Given the description of an element on the screen output the (x, y) to click on. 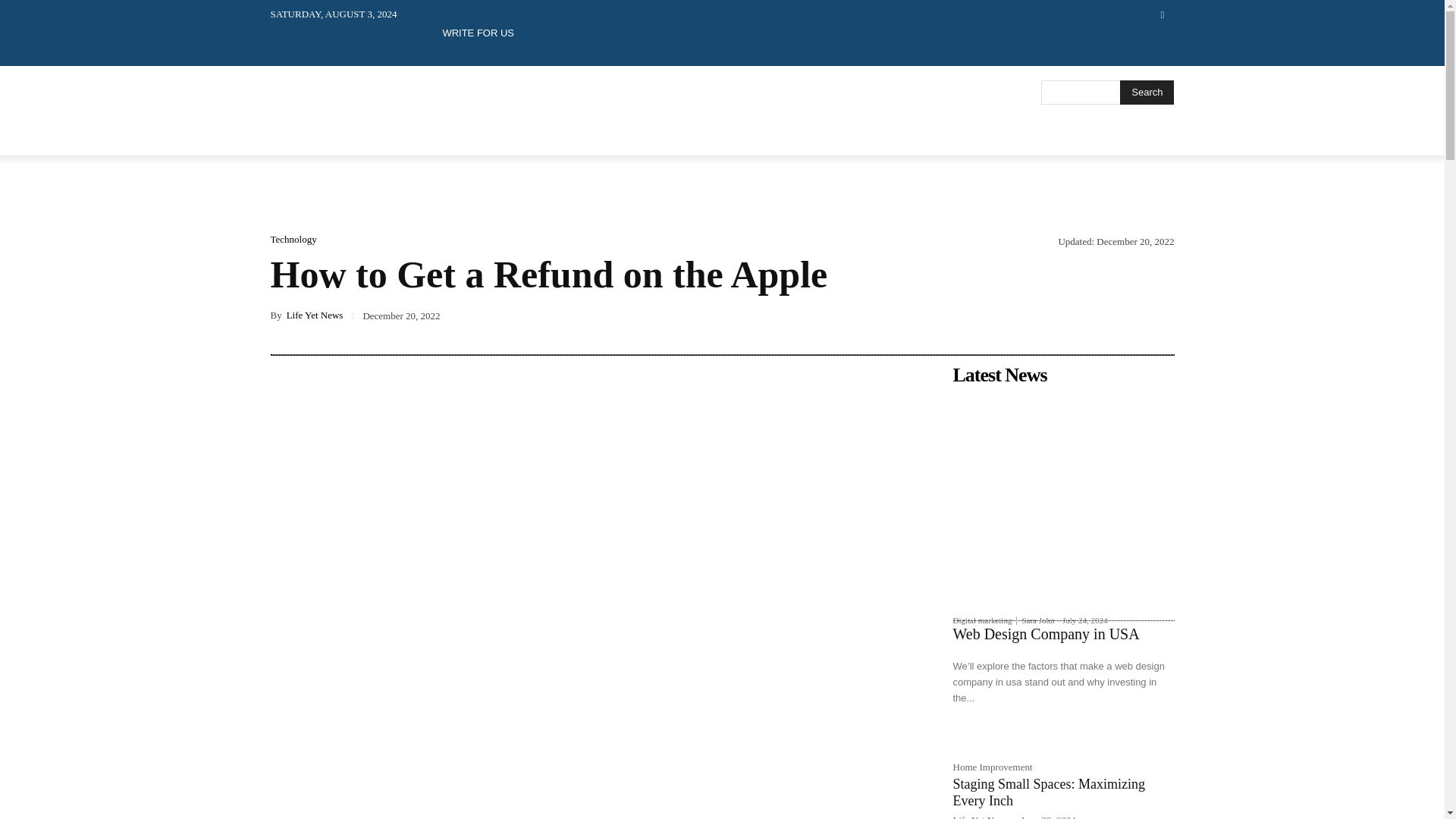
WRITE FOR US (477, 32)
WRITE FOR US (477, 32)
